Given the description of an element on the screen output the (x, y) to click on. 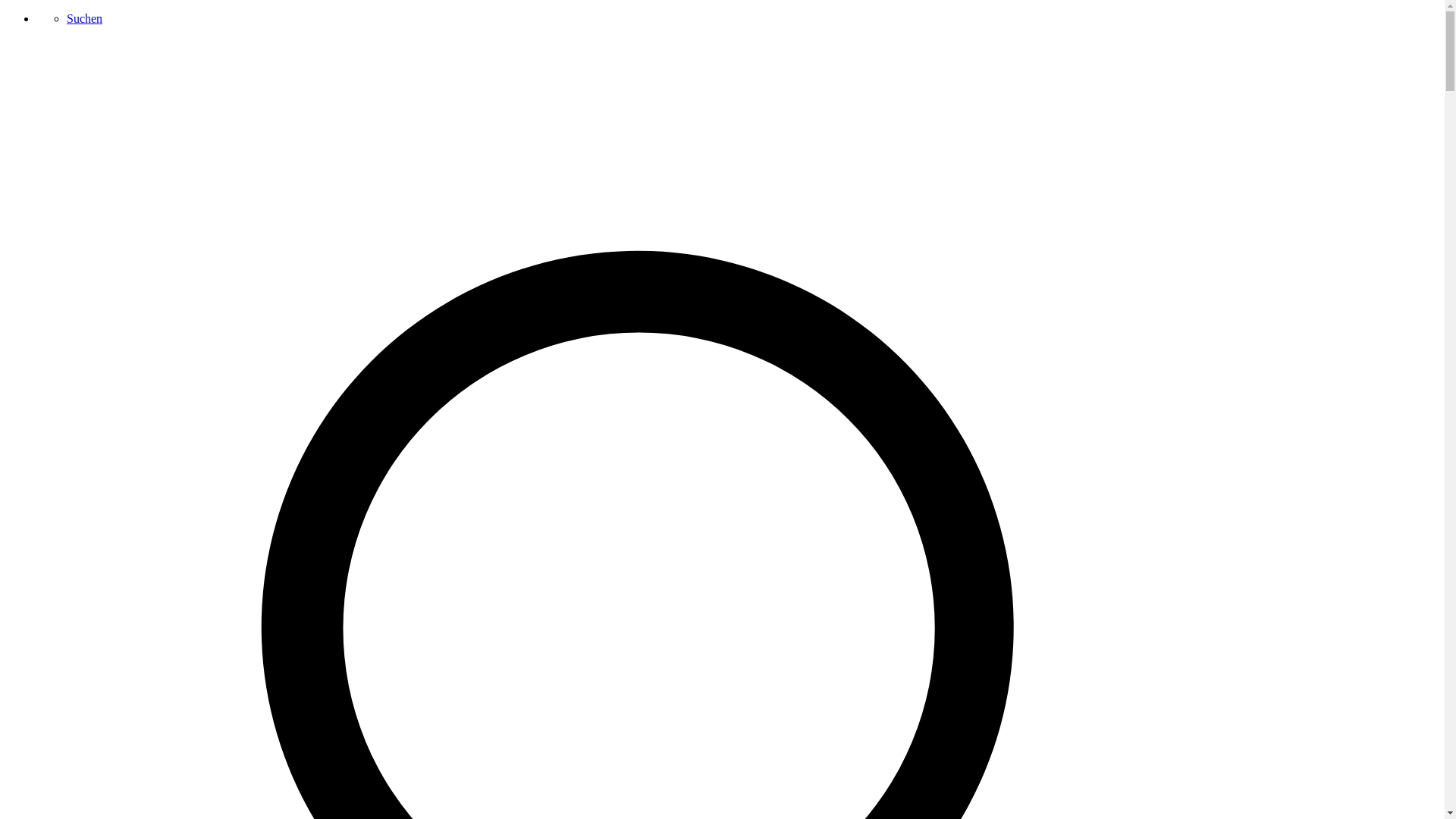
Suchen Element type: text (84, 18)
